Given the description of an element on the screen output the (x, y) to click on. 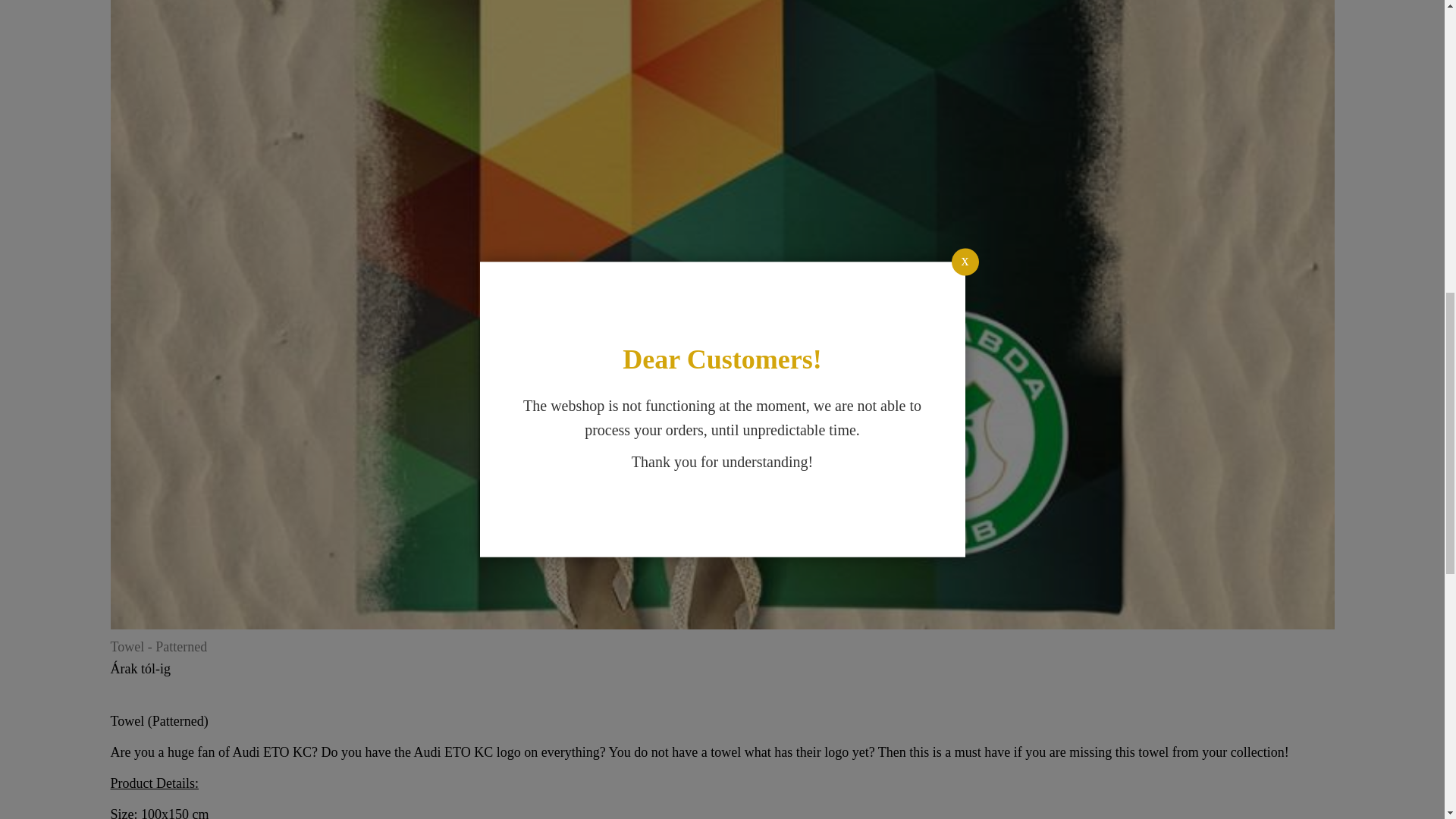
Towel - Patterned (159, 646)
